Given the description of an element on the screen output the (x, y) to click on. 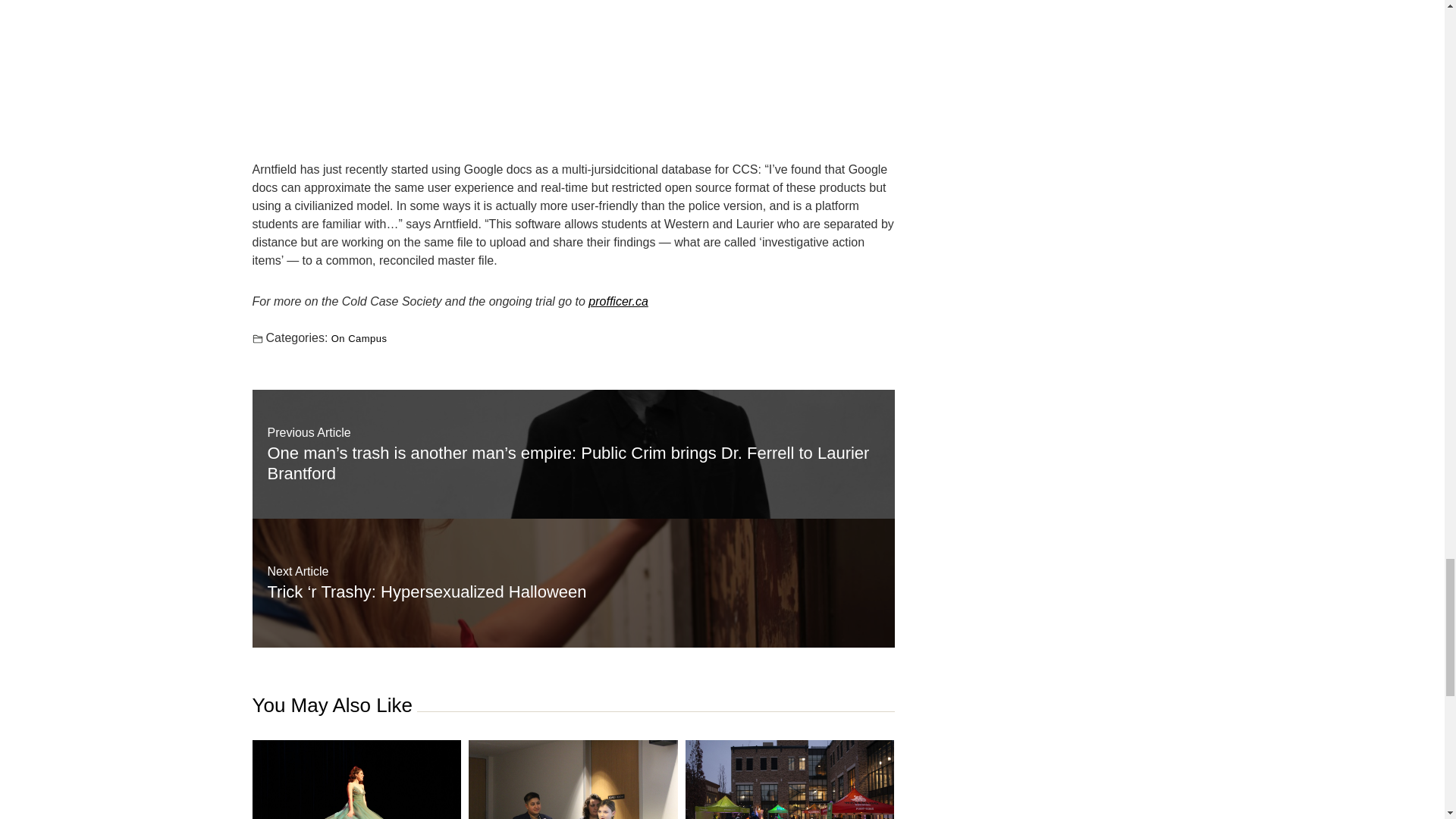
profficer.ca (617, 300)
On Campus (359, 337)
